Given the description of an element on the screen output the (x, y) to click on. 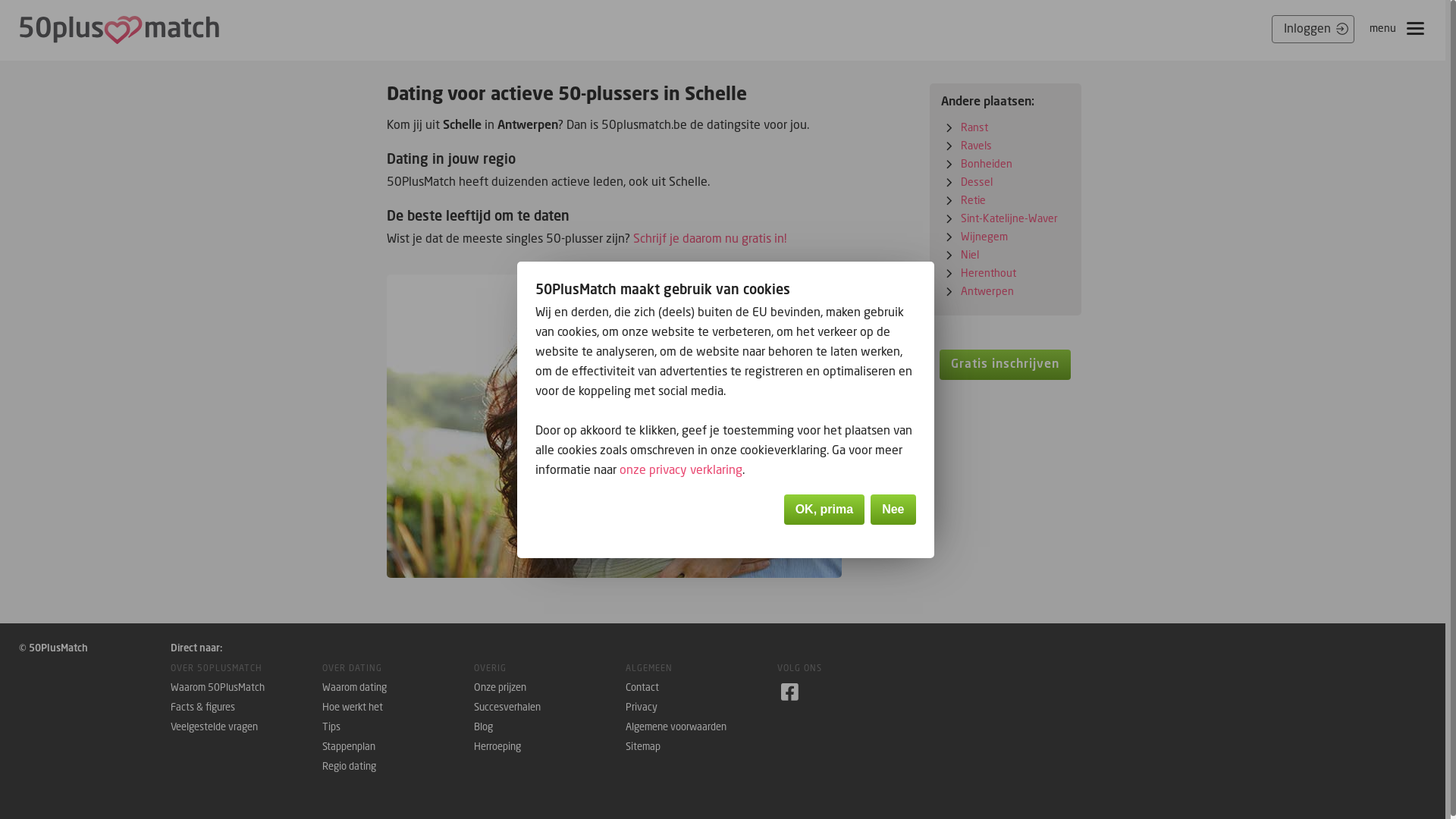
Retie Element type: text (972, 199)
Sint-Katelijne-Waver Element type: text (1008, 217)
Gratis inschrijven Element type: text (1004, 364)
Waarom dating Element type: text (397, 687)
Ravels Element type: text (975, 145)
Waarom 50PlusMatch Element type: text (246, 687)
Algemene voorwaarden Element type: text (701, 727)
Nee Element type: text (892, 509)
OK, prima Element type: text (824, 509)
Regio dating Element type: text (397, 766)
Privacy Element type: text (701, 707)
Sitemap Element type: text (701, 746)
Veelgestelde vragen Element type: text (246, 727)
Herenthout Element type: text (988, 272)
Contact Element type: text (701, 687)
onze privacy verklaring Element type: text (679, 469)
Herroeping Element type: text (549, 746)
Onze prijzen Element type: text (549, 687)
Tips Element type: text (397, 727)
Antwerpen Element type: text (986, 290)
Schrijf je daarom nu gratis in! Element type: text (709, 237)
Dessel Element type: text (976, 181)
Facts & figures Element type: text (246, 707)
Stappenplan Element type: text (397, 746)
Ranst Element type: text (974, 126)
Succesverhalen Element type: text (549, 707)
Hoe werkt het Element type: text (397, 707)
Wijnegem Element type: text (983, 236)
Bonheiden Element type: text (986, 163)
Niel Element type: text (969, 254)
Blog Element type: text (549, 727)
